Given the description of an element on the screen output the (x, y) to click on. 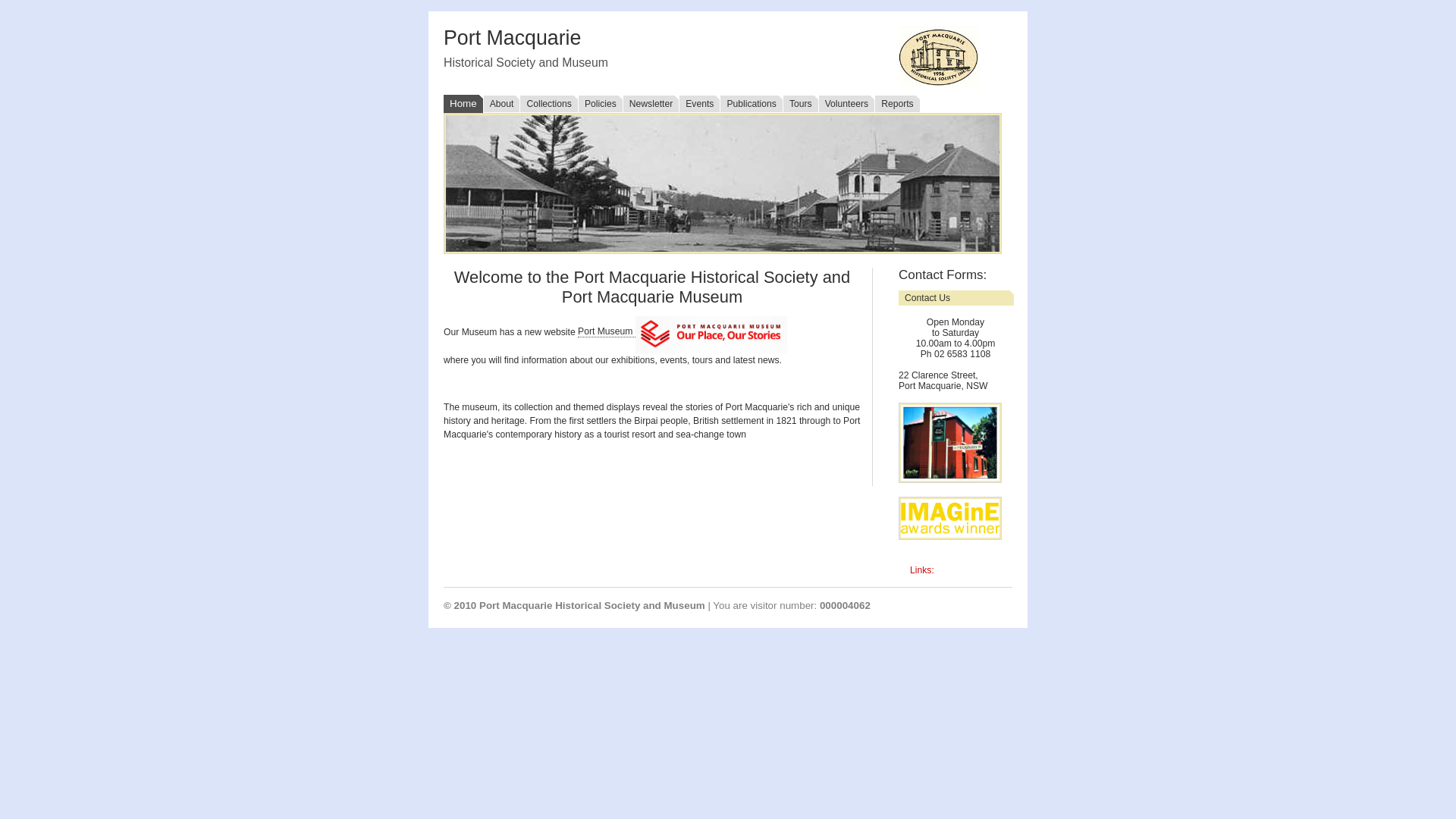
Newsletter Element type: text (650, 103)
Collections Element type: text (548, 103)
Reports Element type: text (896, 103)
Events Element type: text (698, 103)
Contact Us Element type: text (955, 297)
Policies Element type: text (599, 103)
Port Museum Element type: text (606, 331)
Volunteers Element type: text (846, 103)
Tours Element type: text (800, 103)
Publications Element type: text (750, 103)
About Element type: text (501, 103)
Home Element type: text (463, 103)
